Given the description of an element on the screen output the (x, y) to click on. 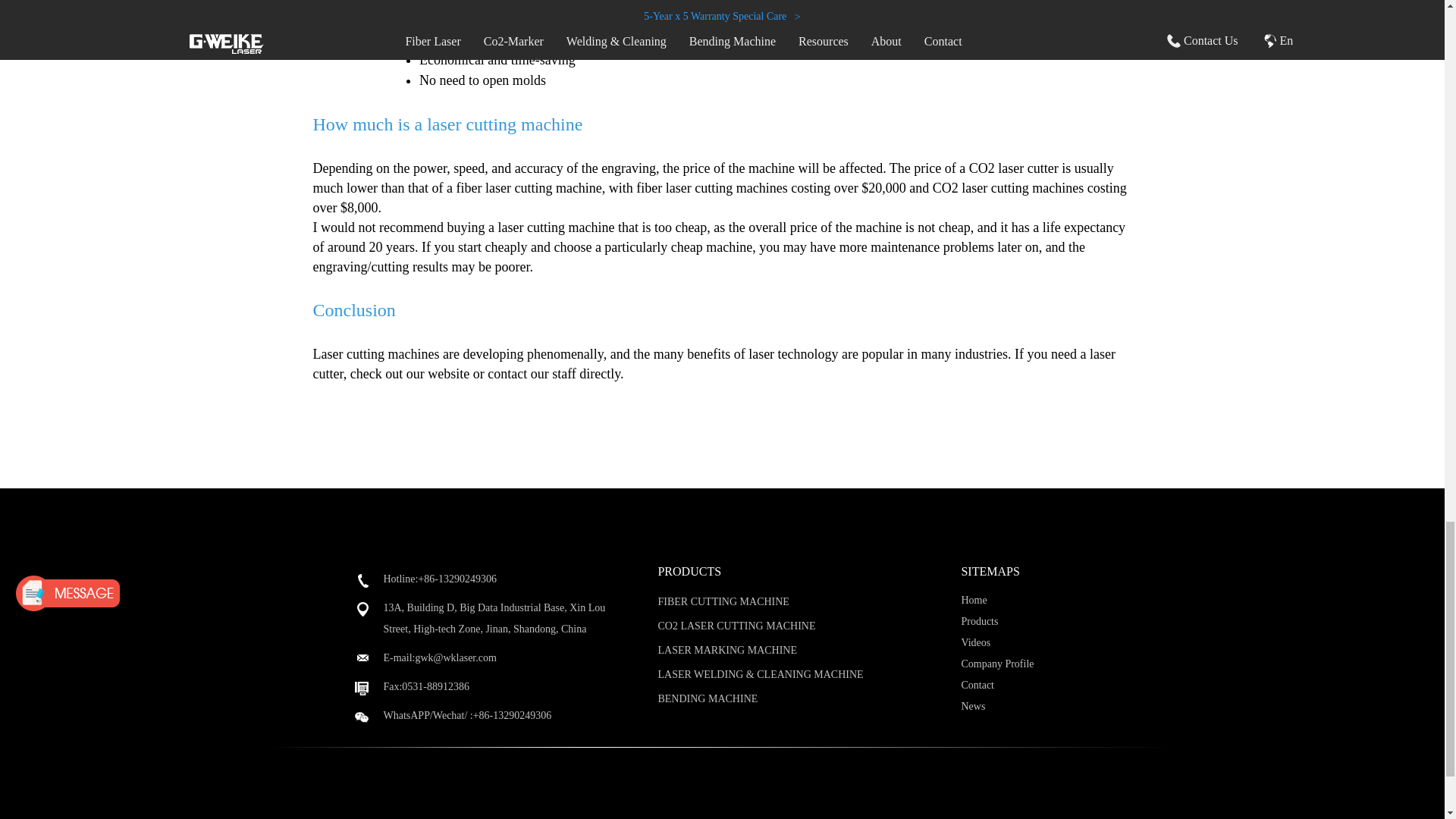
BENDING MACHINE (707, 698)
FIBER CUTTING MACHINE (723, 601)
LASER MARKING MACHINE (727, 650)
CO2 LASER CUTTING MACHINE (736, 625)
